Given the description of an element on the screen output the (x, y) to click on. 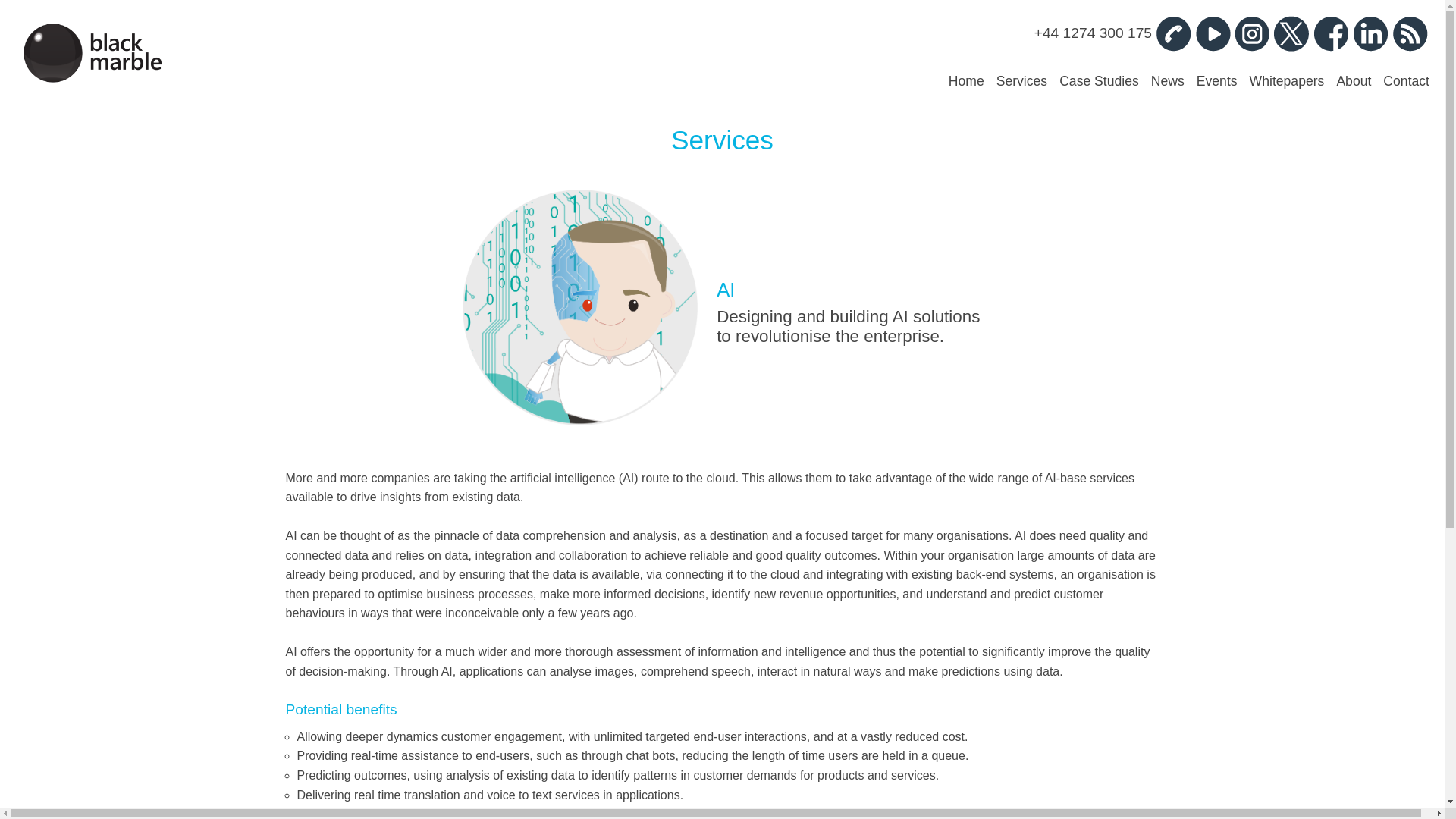
Whitepapers (1286, 81)
Twitter (1290, 33)
Linked In (1370, 33)
Home (966, 81)
Contact Us (1172, 33)
Contact (1406, 81)
YouTube (1211, 33)
LinkedIn (1370, 33)
Facebook (1331, 33)
Blog (1409, 33)
